Given the description of an element on the screen output the (x, y) to click on. 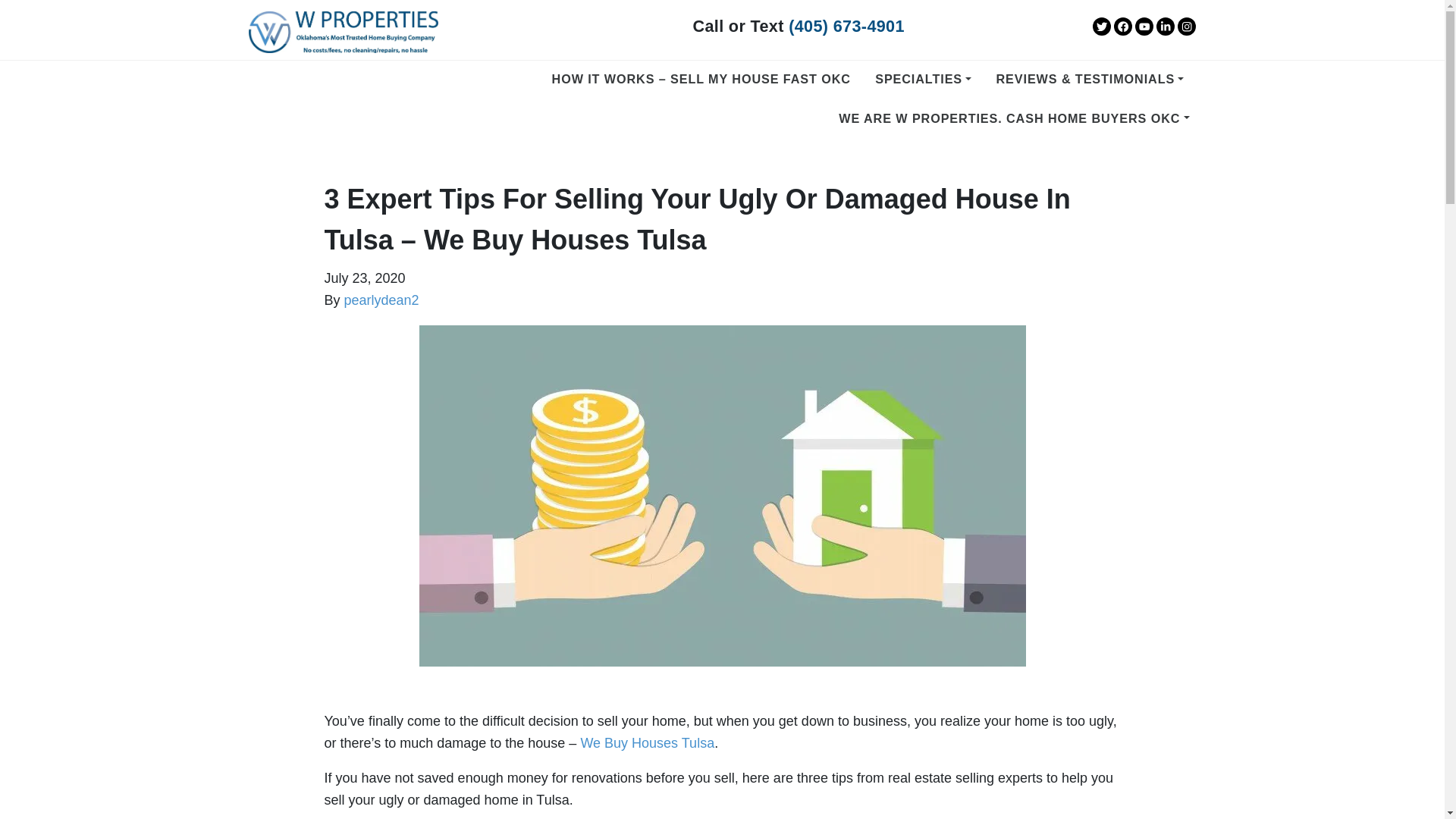
We Buy Houses Tulsa (646, 743)
We are W Properties. Cash Home Buyers OKC (1013, 118)
Twitter (1101, 26)
Specialties (922, 79)
Facebook (1122, 26)
LinkedIn (1165, 26)
SPECIALTIES (922, 79)
Instagram (1186, 26)
WE ARE W PROPERTIES. CASH HOME BUYERS OKC (1013, 118)
pearlydean2 (381, 299)
YouTube (1144, 26)
